Given the description of an element on the screen output the (x, y) to click on. 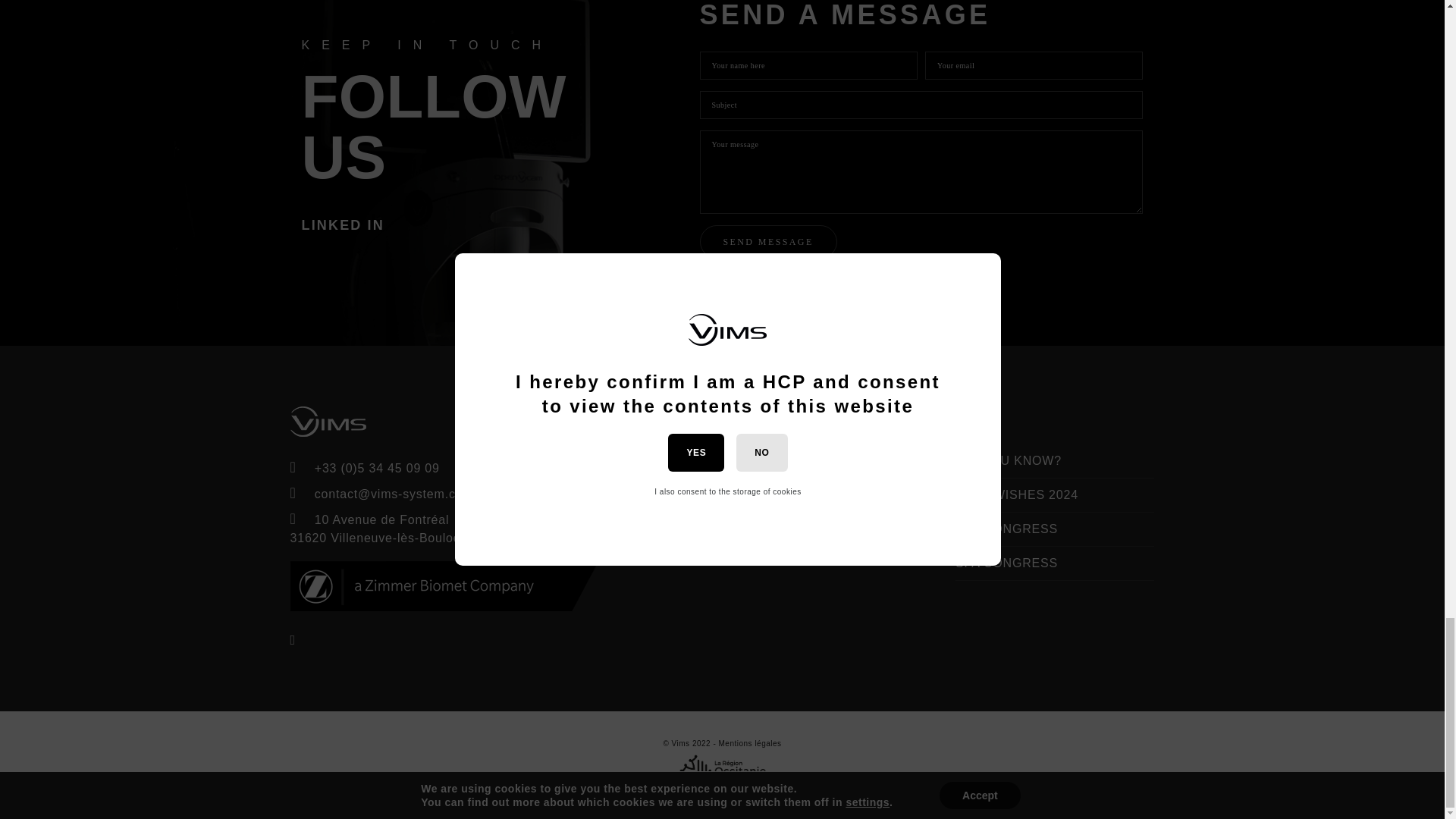
Privacy Notice (850, 460)
Send Message (766, 241)
Send Message (766, 241)
LINKED IN (342, 224)
Hotline (828, 486)
DID YOU KNOW? (1008, 460)
Business Ethics (855, 512)
